Given the description of an element on the screen output the (x, y) to click on. 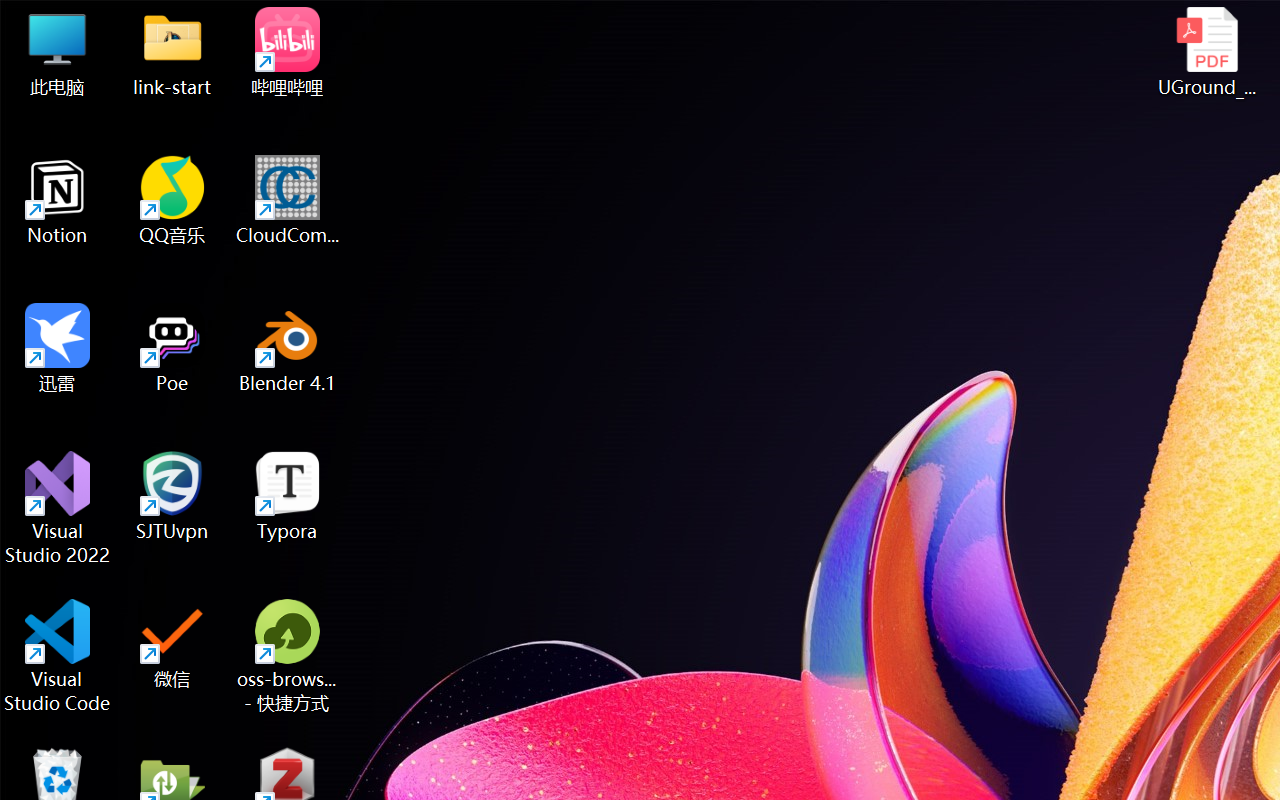
Blender 4.1 (287, 348)
CloudCompare (287, 200)
SJTUvpn (172, 496)
Visual Studio Code (57, 656)
Typora (287, 496)
UGround_paper.pdf (1206, 52)
Visual Studio 2022 (57, 508)
